Given the description of an element on the screen output the (x, y) to click on. 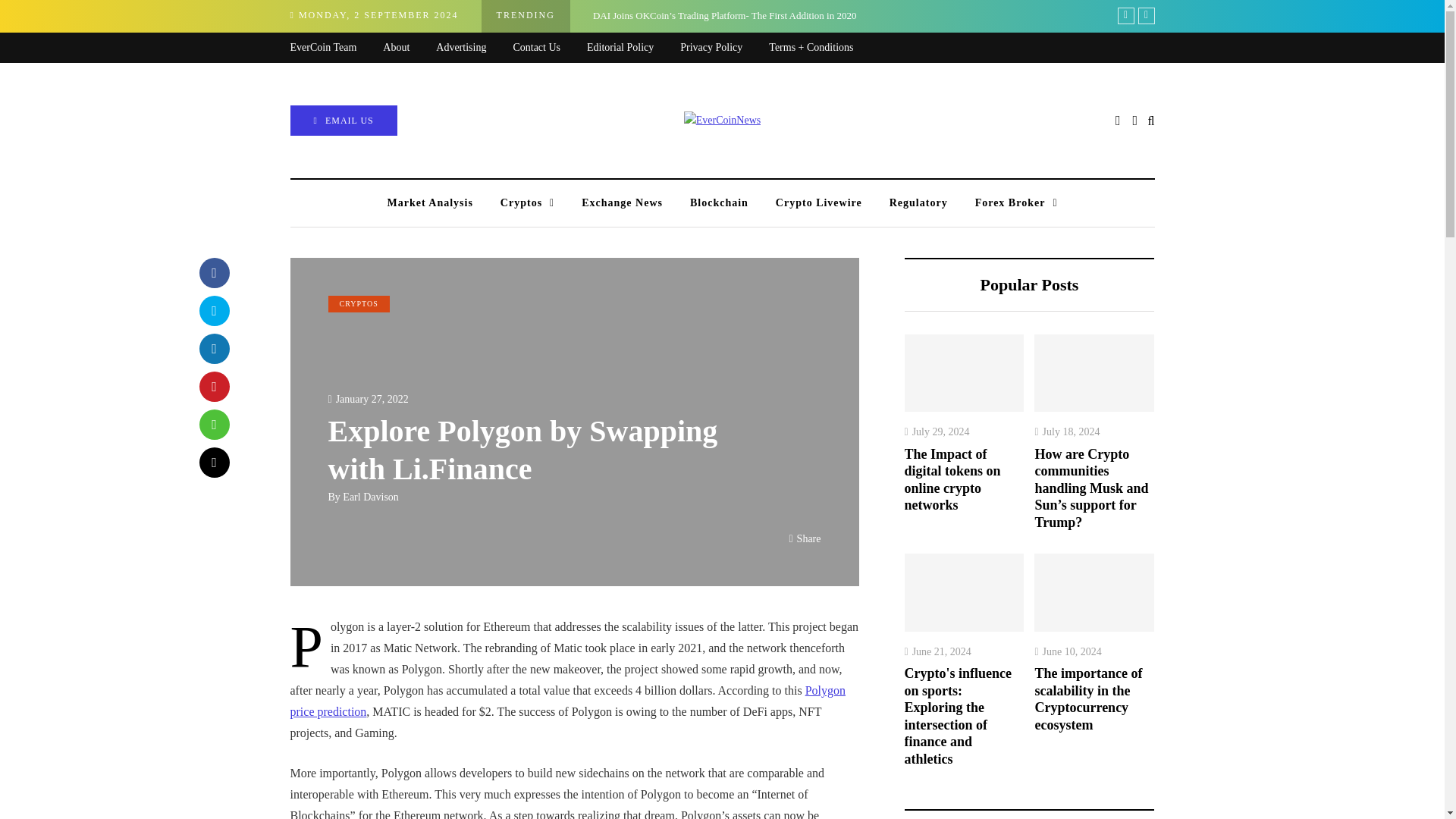
Regulatory (918, 202)
Market Analysis (429, 202)
Privacy Policy (723, 47)
Advertising (473, 47)
Share with Facebook (213, 272)
Crypto Livewire (818, 202)
CRYPTOS (357, 303)
Earl Davison (369, 496)
Share with LinkedIn (213, 348)
Tweet this (213, 310)
